Given the description of an element on the screen output the (x, y) to click on. 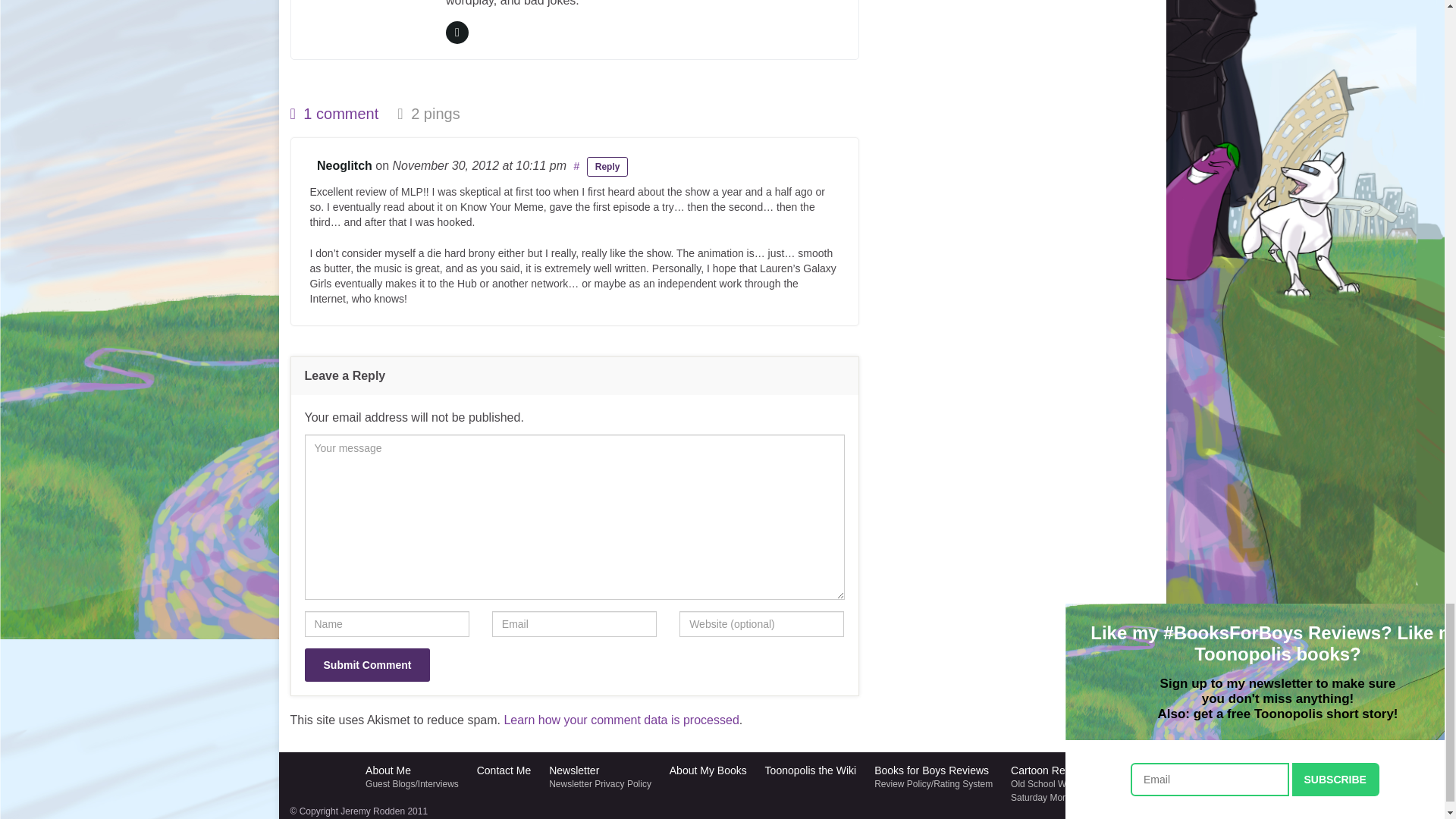
Submit Comment (367, 664)
